Given the description of an element on the screen output the (x, y) to click on. 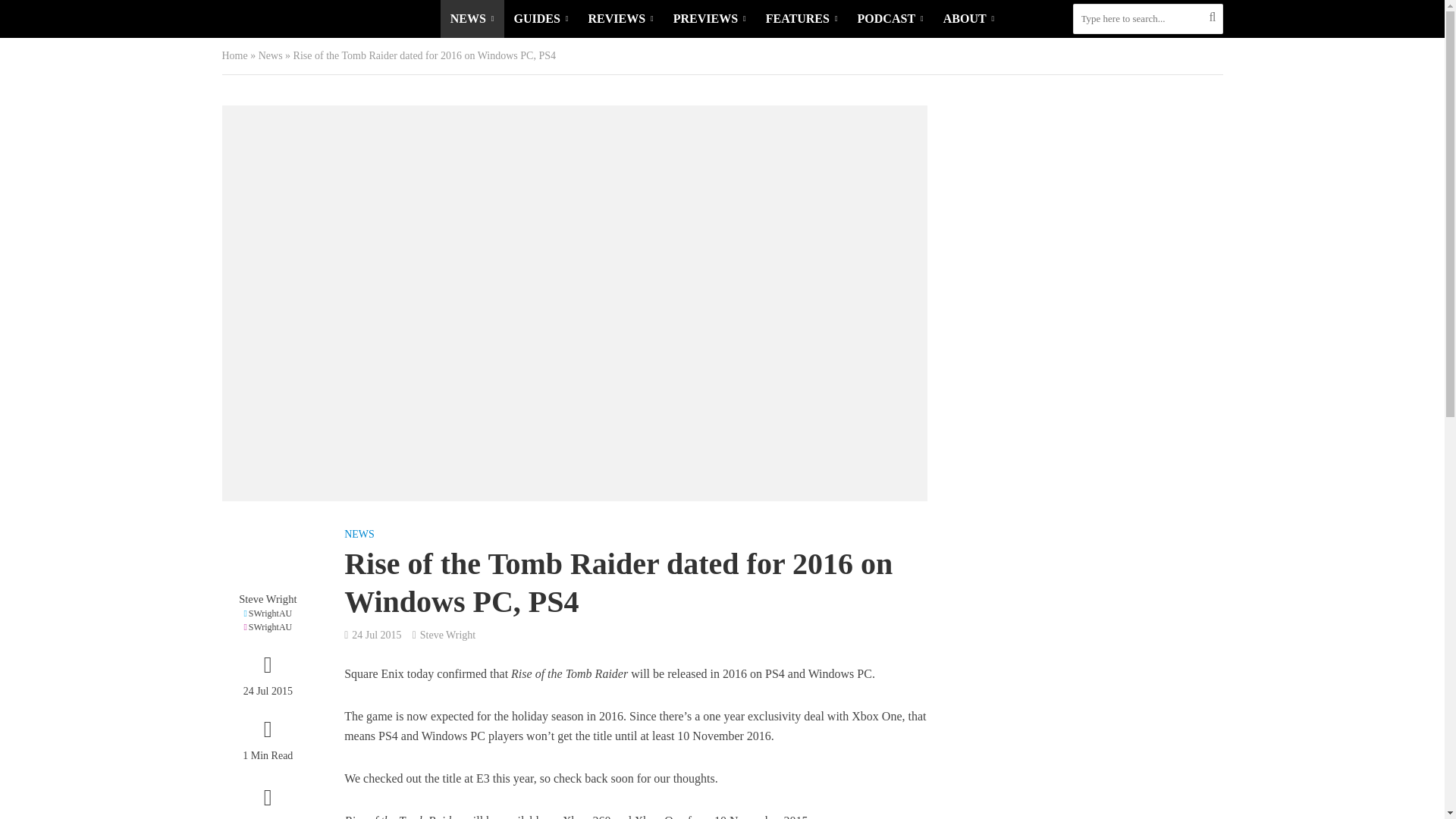
REVIEWS (620, 18)
NEWS (472, 18)
GUIDES (540, 18)
